Given the description of an element on the screen output the (x, y) to click on. 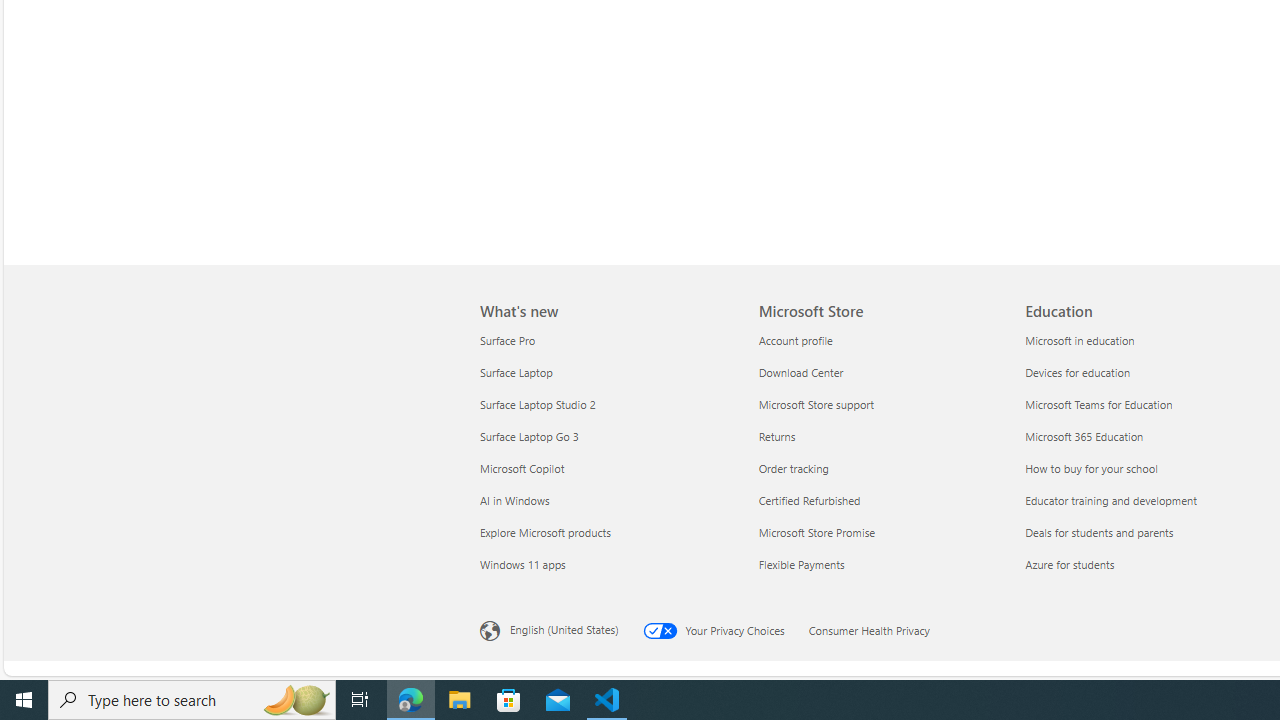
Certified Refurbished (879, 499)
Order tracking Microsoft Store (793, 467)
Surface Pro What's new (508, 339)
AI in Windows (607, 499)
Microsoft Teams for Education Education (1098, 403)
Devices for education Education (1078, 372)
Surface Laptop Studio 2 (607, 404)
Windows 11 apps What's new (522, 563)
Explore Microsoft products What's new (545, 532)
Azure for students Education (1069, 563)
Azure for students (1146, 564)
Devices for education (1146, 371)
Your Privacy Choices Opt-Out Icon (664, 630)
Flexible Payments (879, 564)
Microsoft Store support (879, 404)
